Given the description of an element on the screen output the (x, y) to click on. 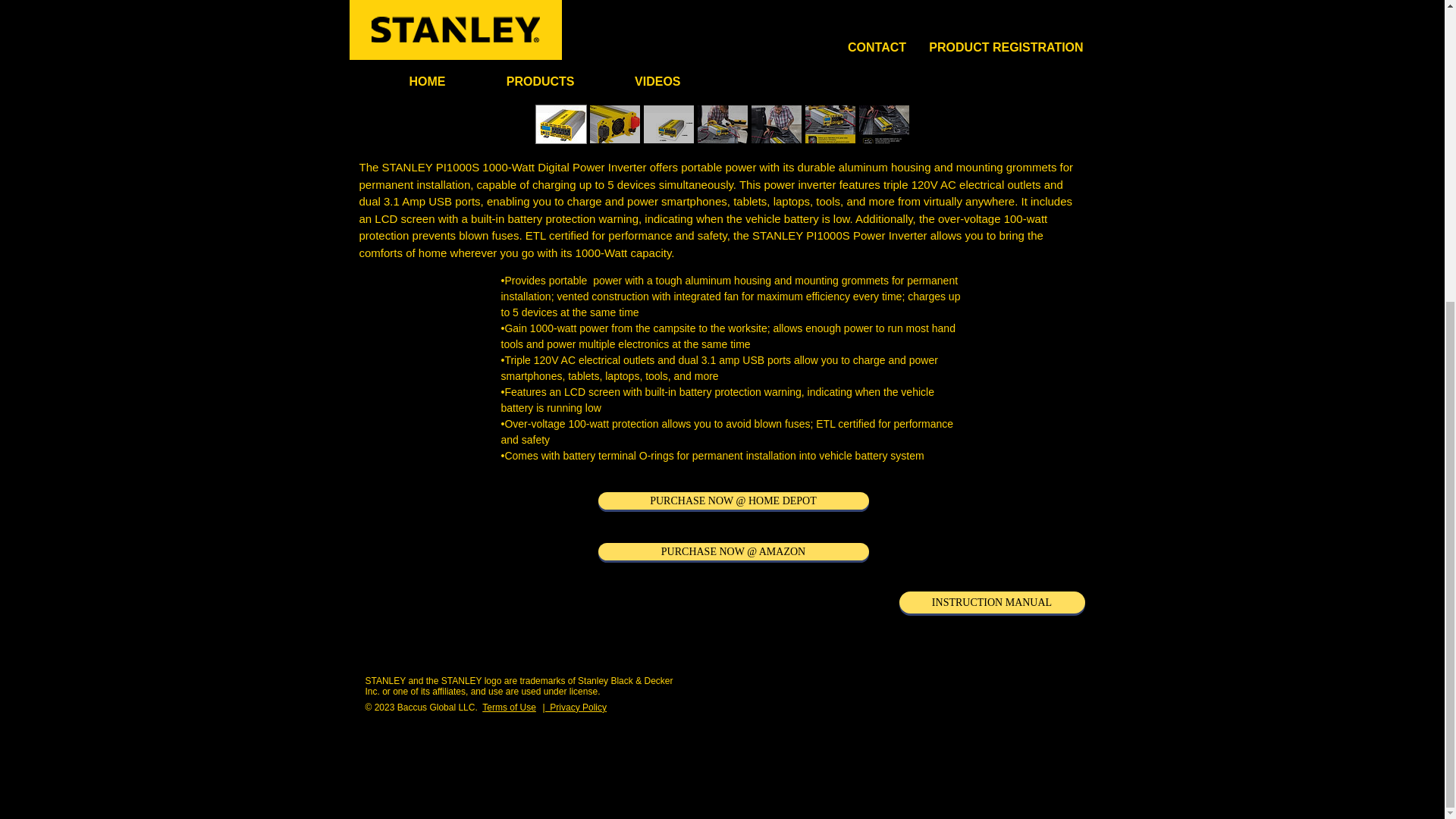
INSTRUCTION MANUAL (991, 602)
Terms of Use (508, 706)
